Given the description of an element on the screen output the (x, y) to click on. 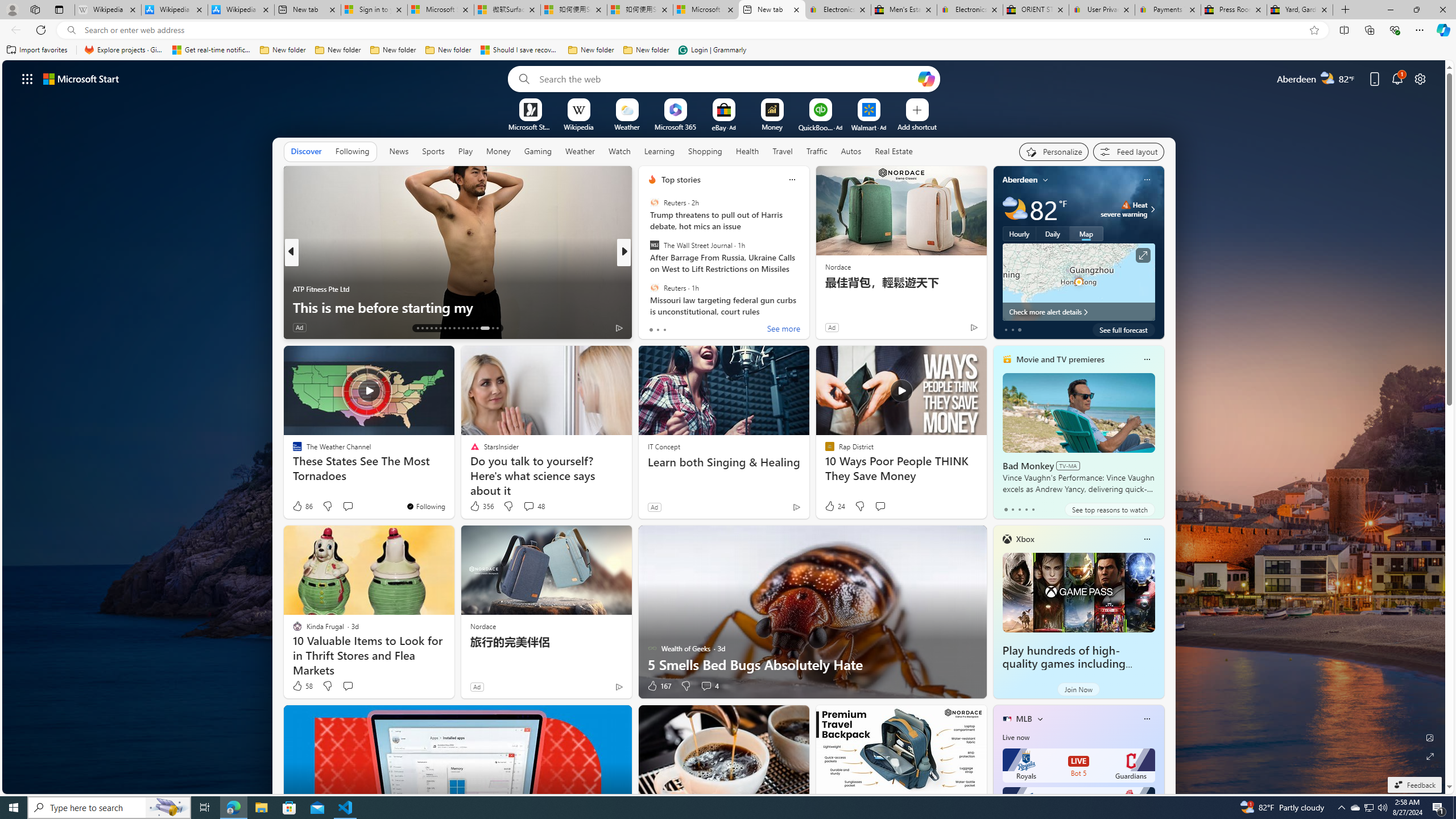
Play (465, 151)
Nordace (483, 625)
tab-2 (1019, 509)
1 Like (651, 327)
New folder (646, 49)
tab-4 (1032, 509)
